Given the description of an element on the screen output the (x, y) to click on. 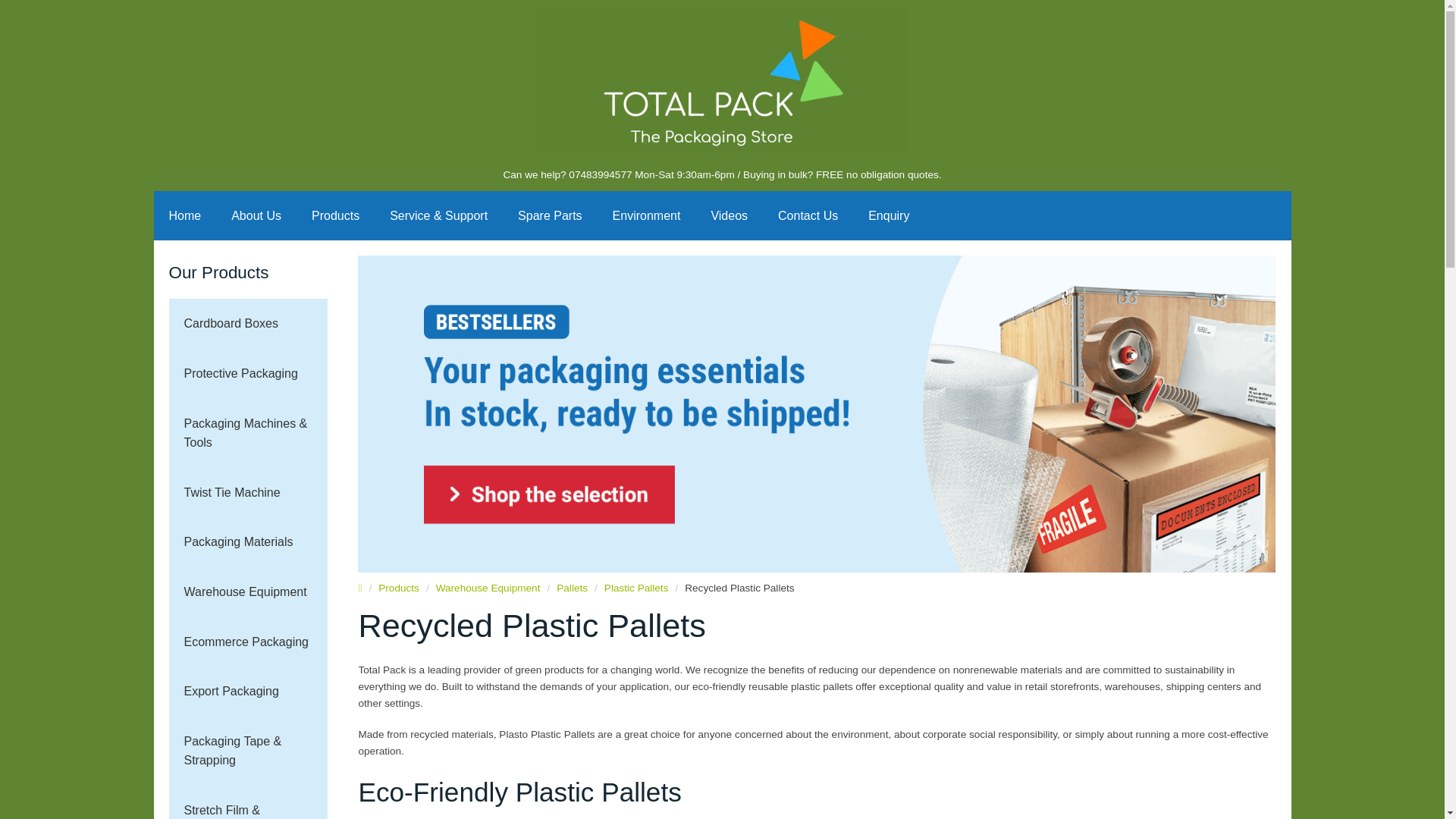
Pallets (572, 587)
Products (398, 587)
Packaging Materials (247, 541)
Contact Us (807, 215)
Total Pack (722, 79)
Ecommerce Packaging (247, 642)
Packaging Materials (247, 541)
Cardboard Boxes (247, 323)
Export Packaging (247, 691)
Export Packaging (247, 691)
